Given the description of an element on the screen output the (x, y) to click on. 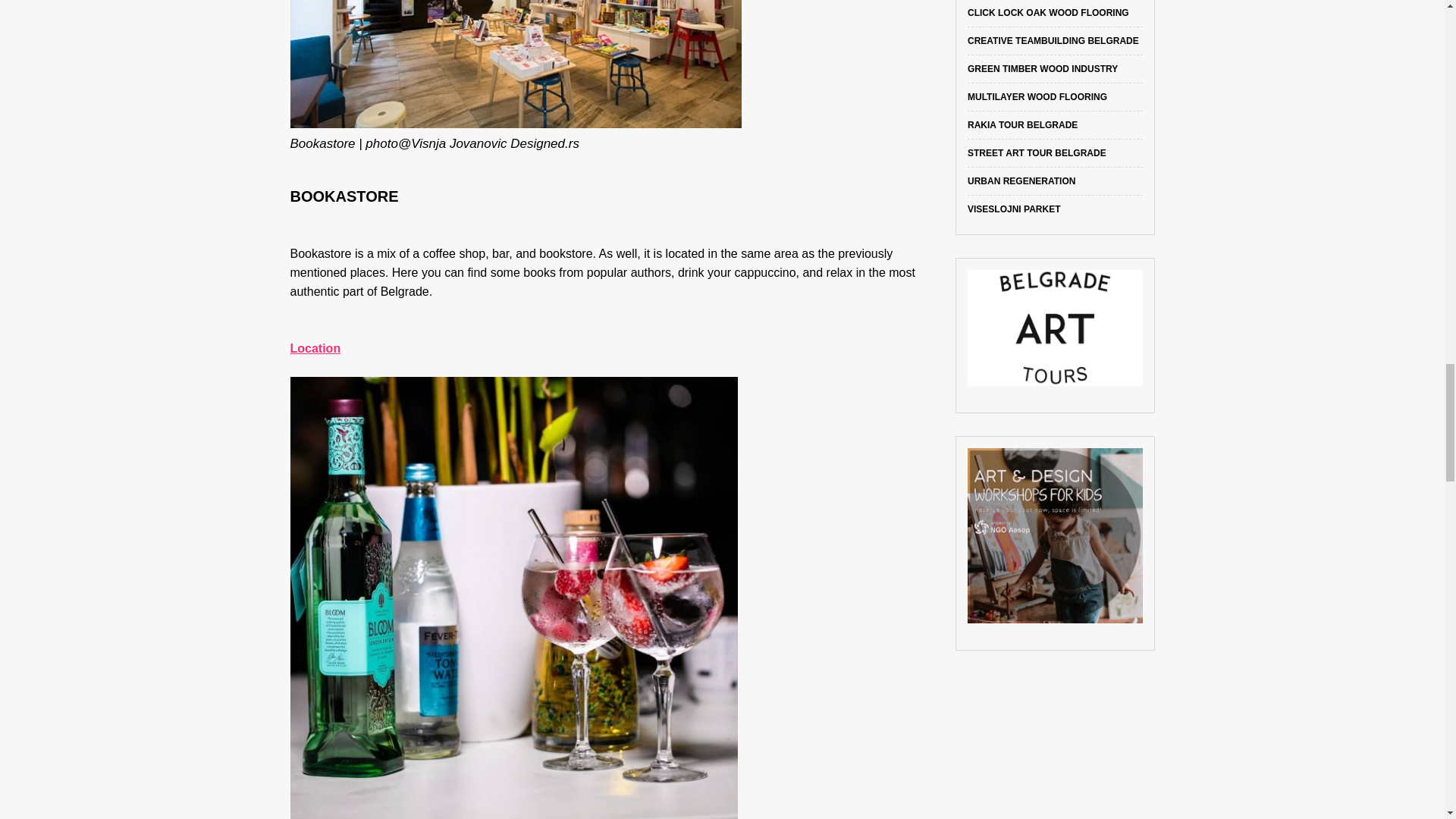
Street Art Tour with Workshop Belgrade  (1037, 153)
Belgrade Rakia Tour  (1022, 124)
